Given the description of an element on the screen output the (x, y) to click on. 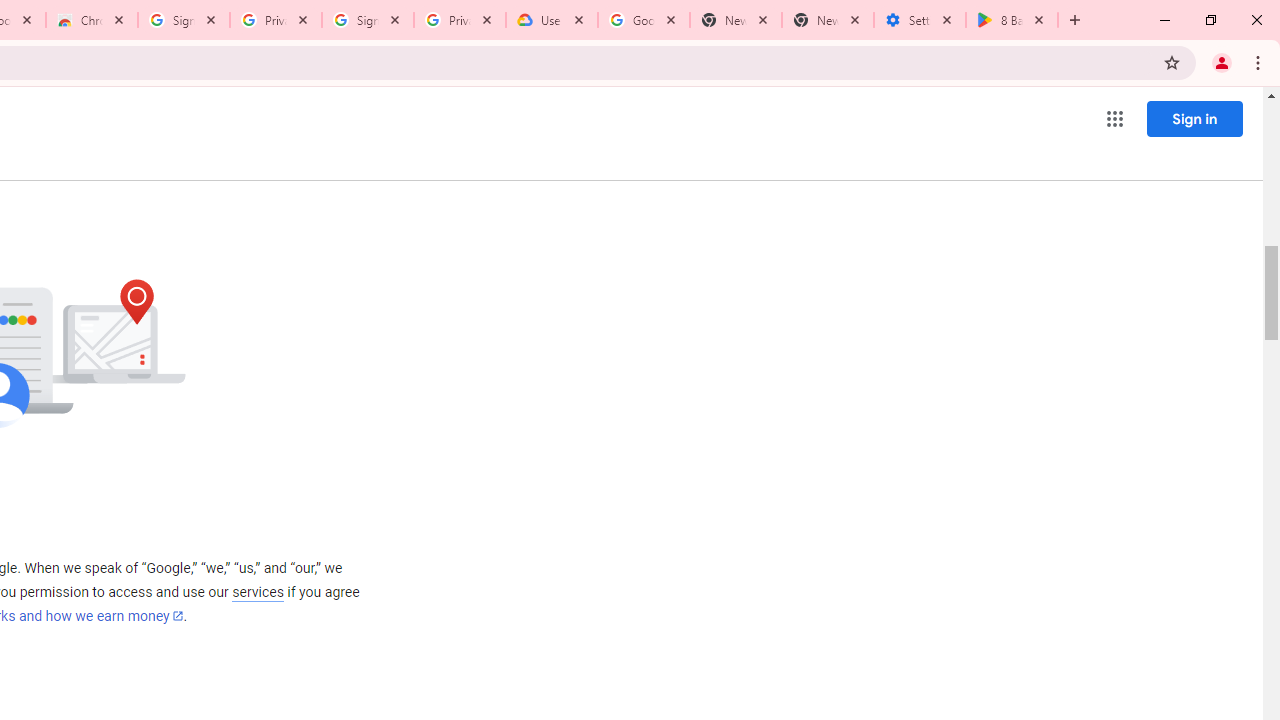
Sign in - Google Accounts (184, 20)
8 Ball Pool - Apps on Google Play (1012, 20)
services (257, 592)
Settings - System (920, 20)
Chrome Web Store - Color themes by Chrome (92, 20)
New Tab (828, 20)
Sign in - Google Accounts (367, 20)
